Given the description of an element on the screen output the (x, y) to click on. 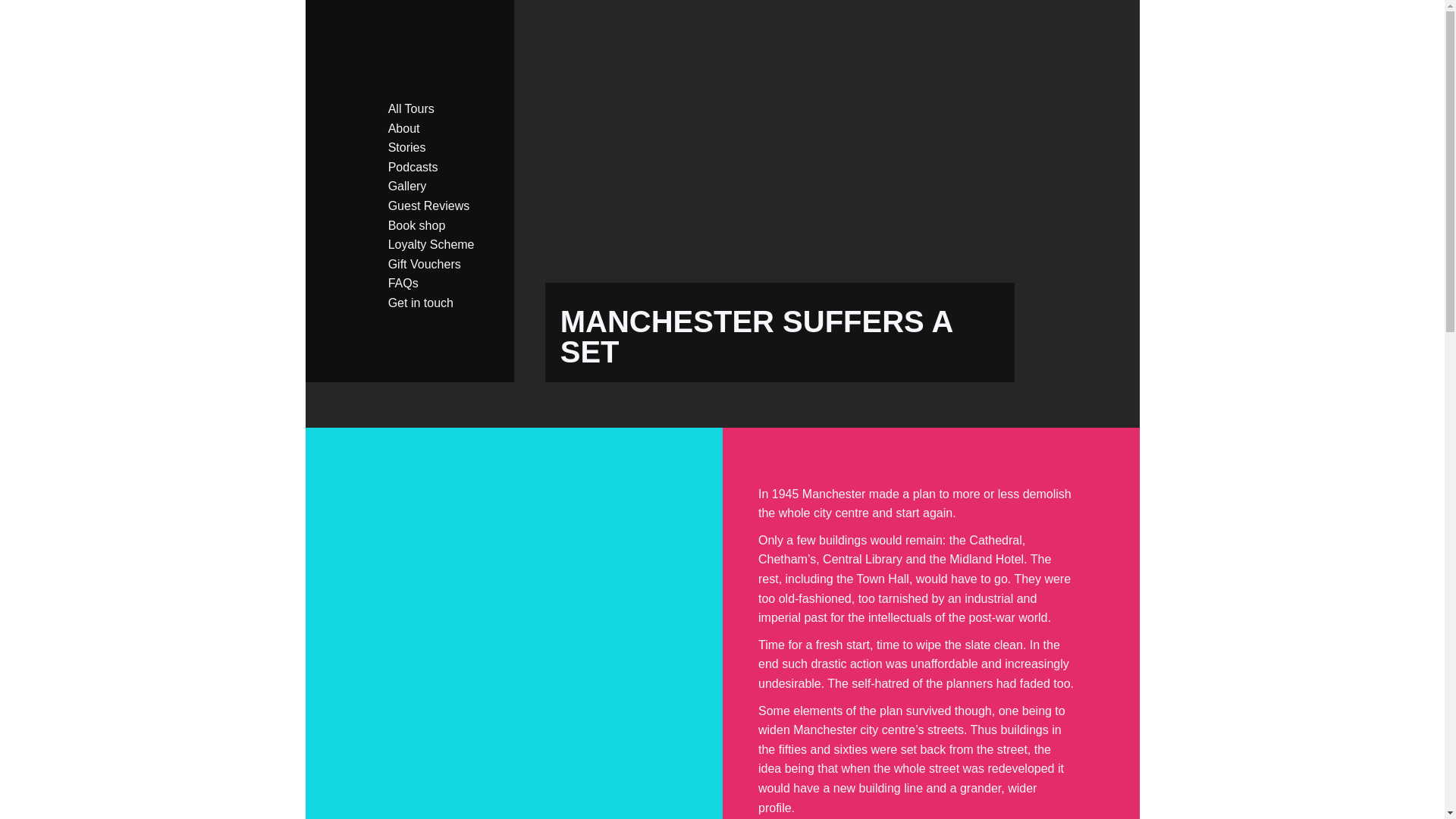
Get in touch (443, 302)
Loyalty Scheme (443, 244)
Gallery (443, 186)
Gift Vouchers (443, 264)
Stories (443, 148)
Guest Reviews (443, 206)
Podcasts (443, 167)
Book shop (443, 225)
About (443, 128)
FAQs (443, 283)
All Tours (443, 108)
